Given the description of an element on the screen output the (x, y) to click on. 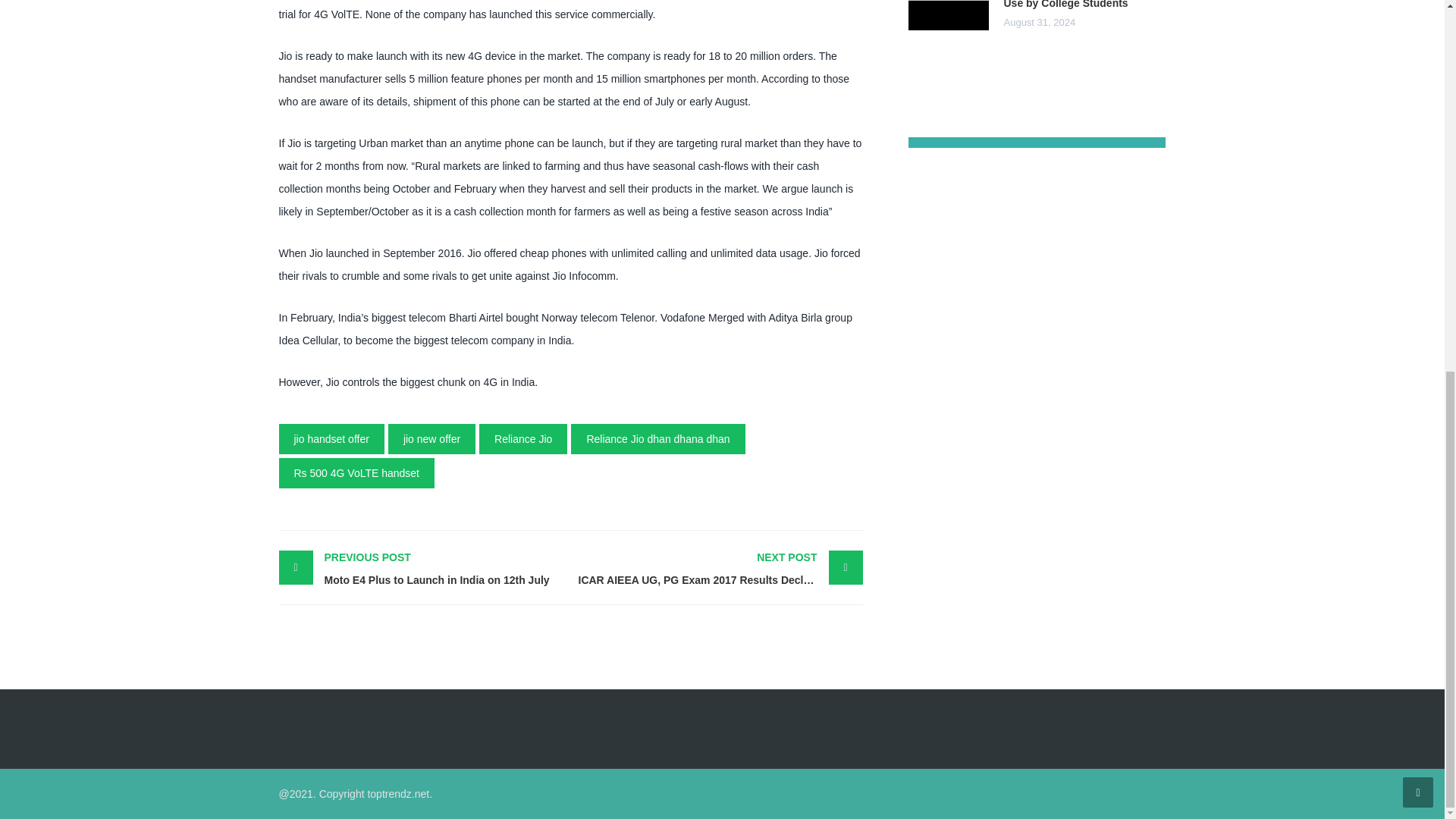
jio handset offer (424, 568)
jio new offer (331, 439)
Reliance Jio dhan dhana dhan (432, 439)
Rs 500 4G VoLTE handset (657, 439)
Reliance Jio (357, 472)
